Given the description of an element on the screen output the (x, y) to click on. 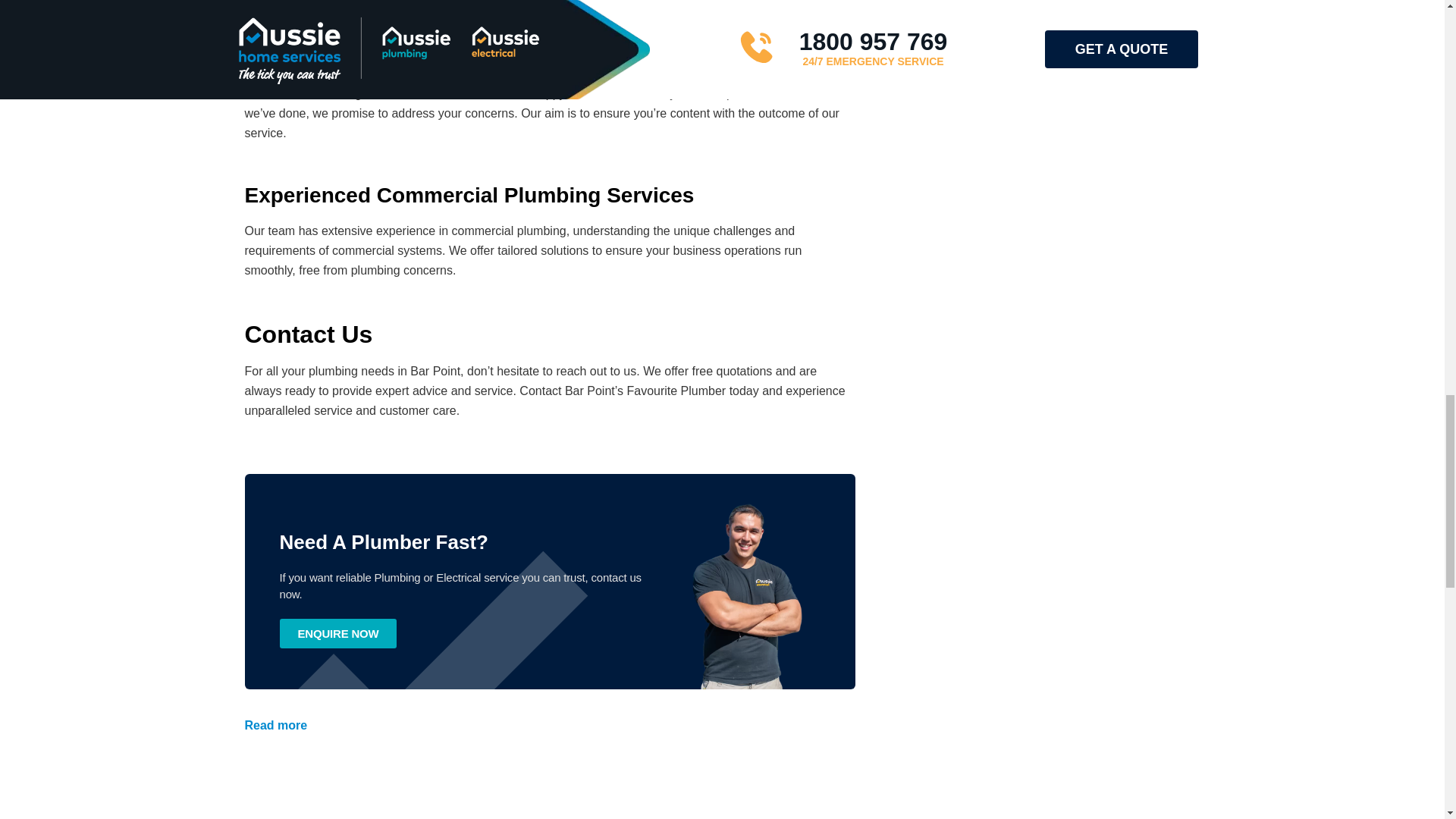
Bar Point, NSW Australia (721, 809)
